Given the description of an element on the screen output the (x, y) to click on. 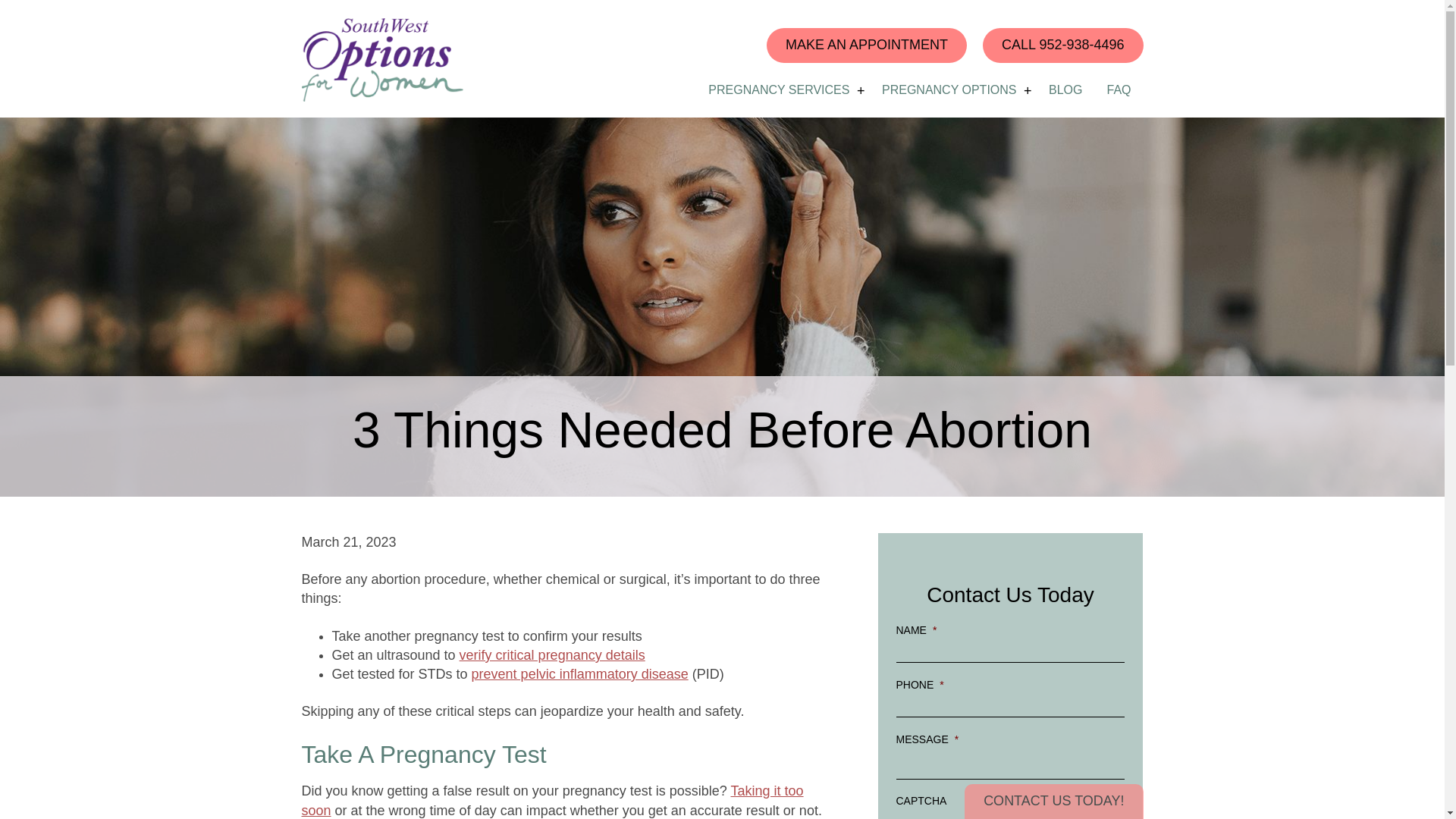
FAQ (1118, 90)
MAKE AN APPOINTMENT (866, 45)
Pregnancy Services (778, 90)
Blog (1065, 90)
prevent pelvic inflammatory disease (579, 673)
Pregnancy Options (949, 90)
FAQ (1118, 90)
PREGNANCY OPTIONS (949, 90)
BLOG (1065, 90)
Taking it too soon (552, 799)
